Given the description of an element on the screen output the (x, y) to click on. 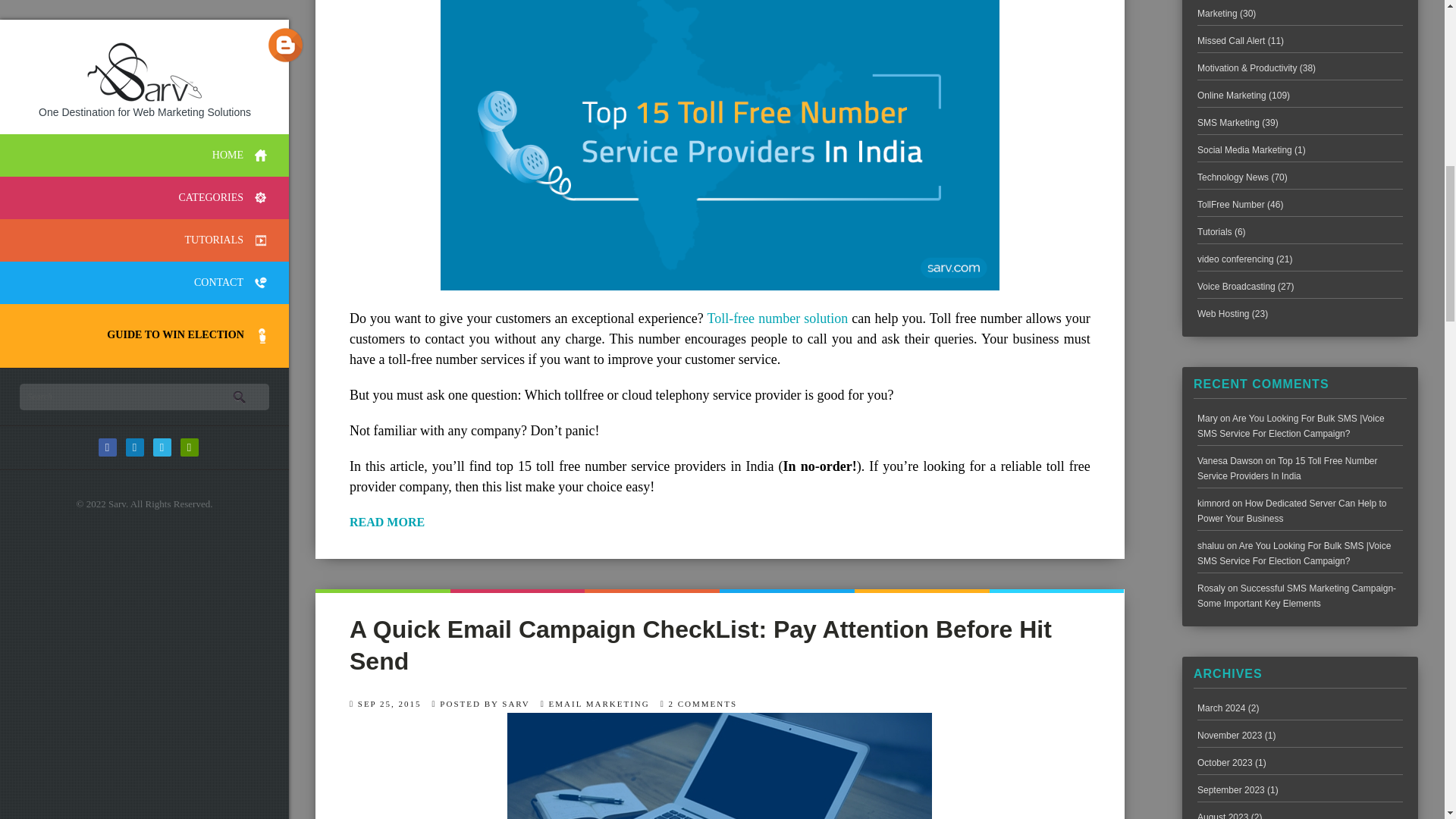
Tollfree Number Services and Solution (776, 318)
2 COMMENTS (703, 703)
EMAIL MARKETING (598, 703)
READ MORE (719, 522)
Toll-free number solution (776, 318)
